Given the description of an element on the screen output the (x, y) to click on. 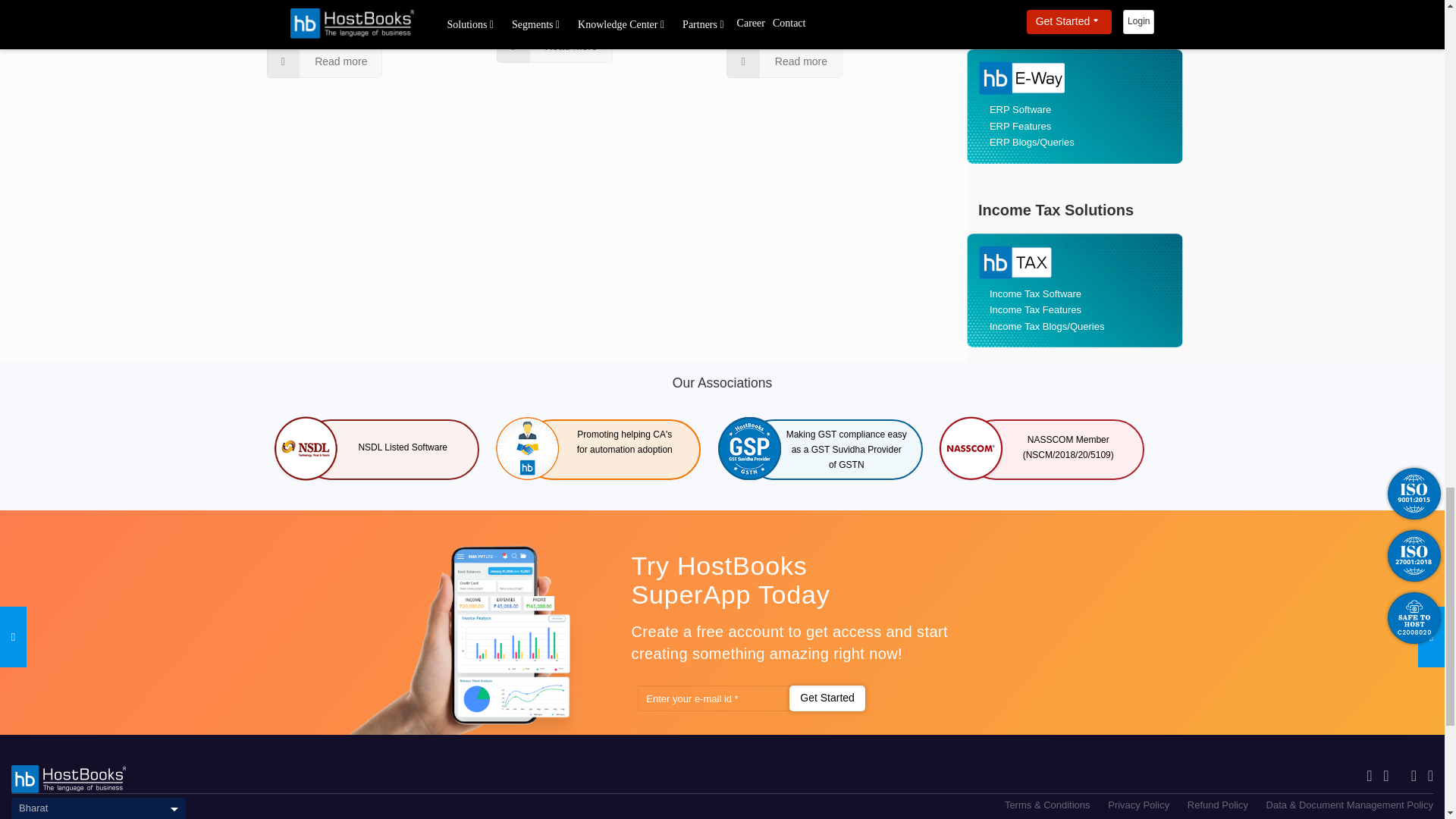
Get Started (826, 698)
Refund Policy (1217, 804)
Document Management Policy (1349, 804)
Privacy Policy (1138, 804)
